Given the description of an element on the screen output the (x, y) to click on. 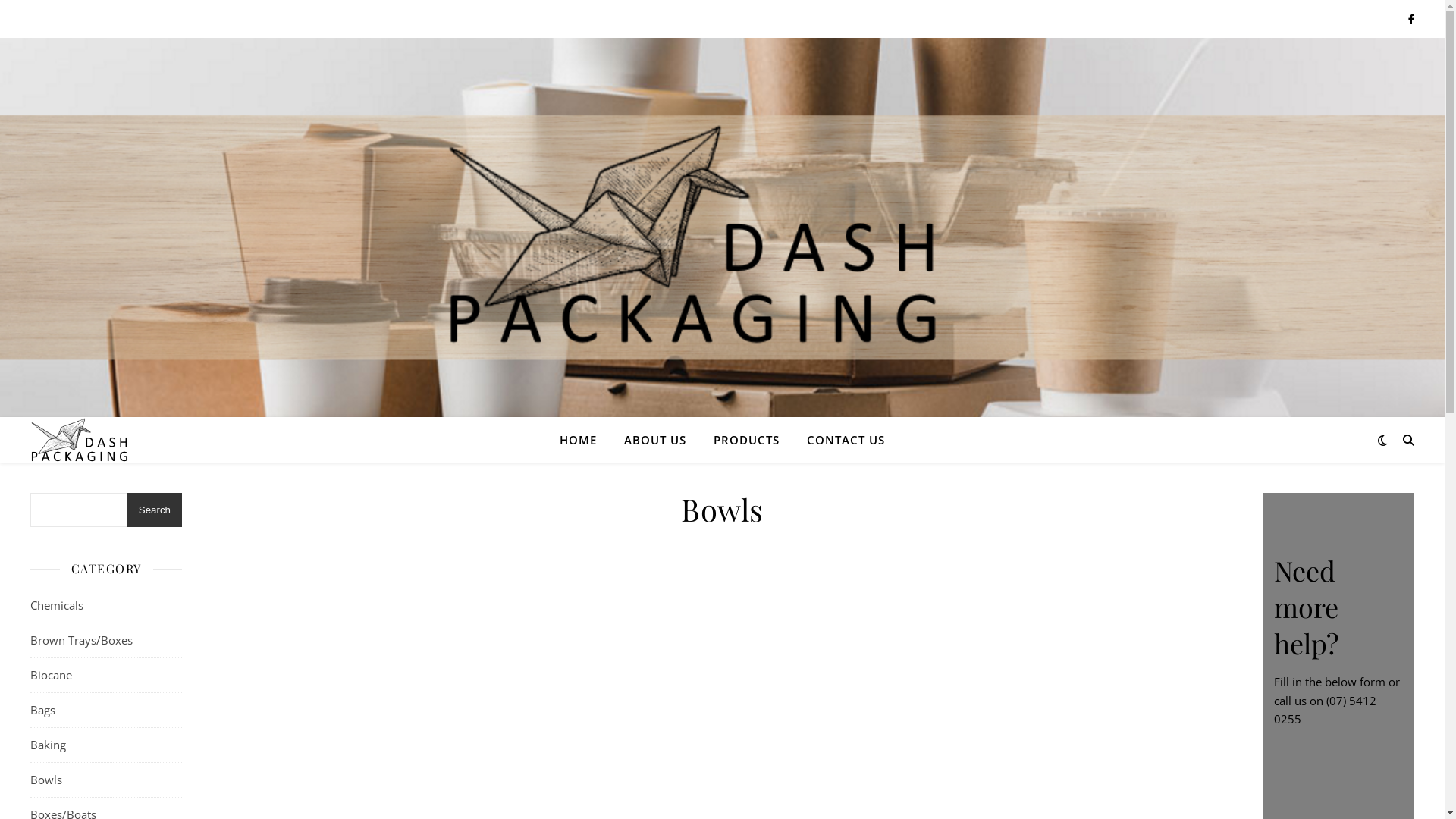
HOME Element type: text (583, 439)
Bowls Element type: text (106, 779)
PRODUCTS Element type: text (746, 439)
ABOUT US Element type: text (654, 439)
Biocane Element type: text (106, 675)
CONTACT US Element type: text (839, 439)
Search Element type: text (154, 509)
Bags Element type: text (106, 710)
Brown Trays/Boxes Element type: text (106, 640)
Dash Packaging Element type: hover (79, 439)
Chemicals Element type: text (106, 605)
Baking Element type: text (106, 745)
